Given the description of an element on the screen output the (x, y) to click on. 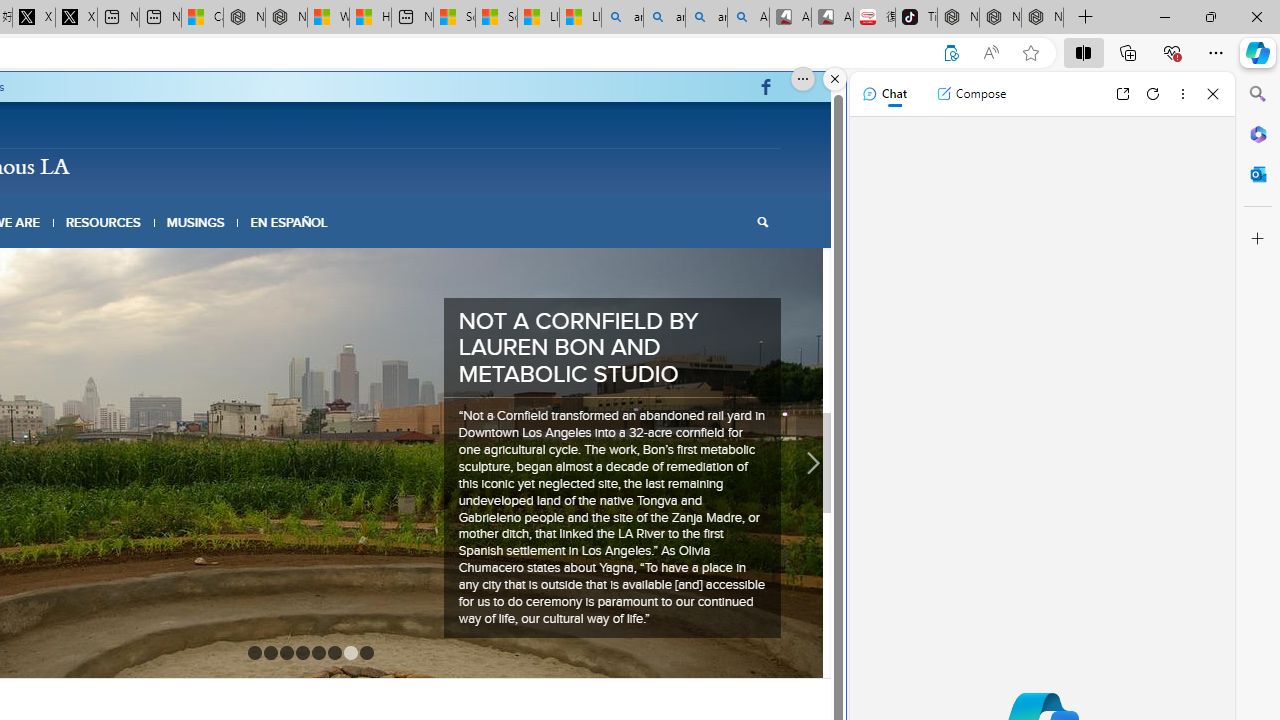
RESOURCES (102, 222)
Microsoft 365 (1258, 133)
5 (318, 564)
Customize (1258, 239)
Chat (884, 93)
All Cubot phones (831, 17)
1 (254, 564)
Close split screen. (835, 79)
6 (333, 564)
Nordace Siena Pro 15 Backpack (1000, 17)
